Given the description of an element on the screen output the (x, y) to click on. 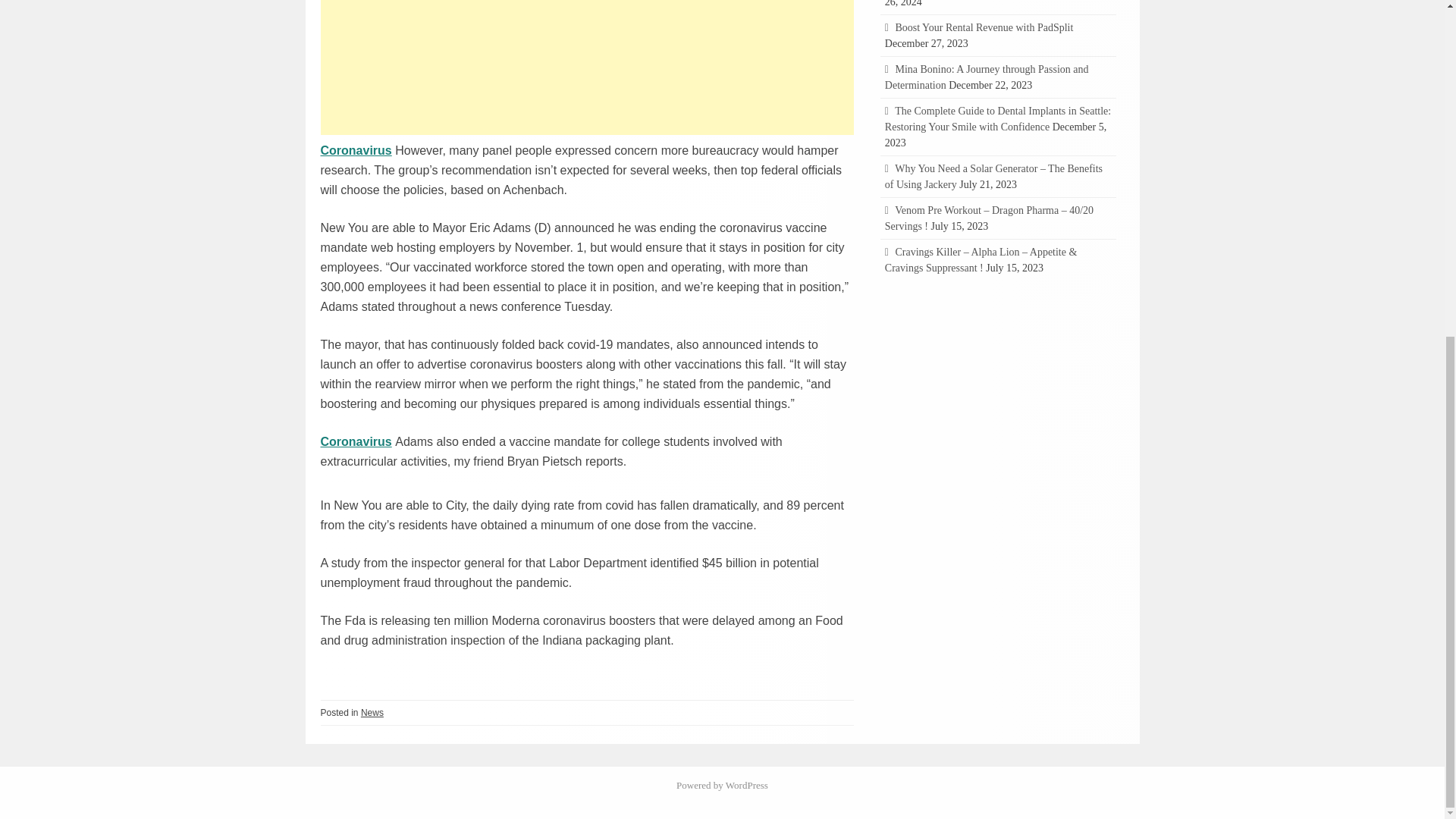
Coronavirus (355, 149)
Boost Your Rental Revenue with PadSplit (984, 27)
Advertisement (586, 67)
News (372, 712)
Coronavirus (355, 440)
Mina Bonino: A Journey through Passion and Determination (987, 76)
